Given the description of an element on the screen output the (x, y) to click on. 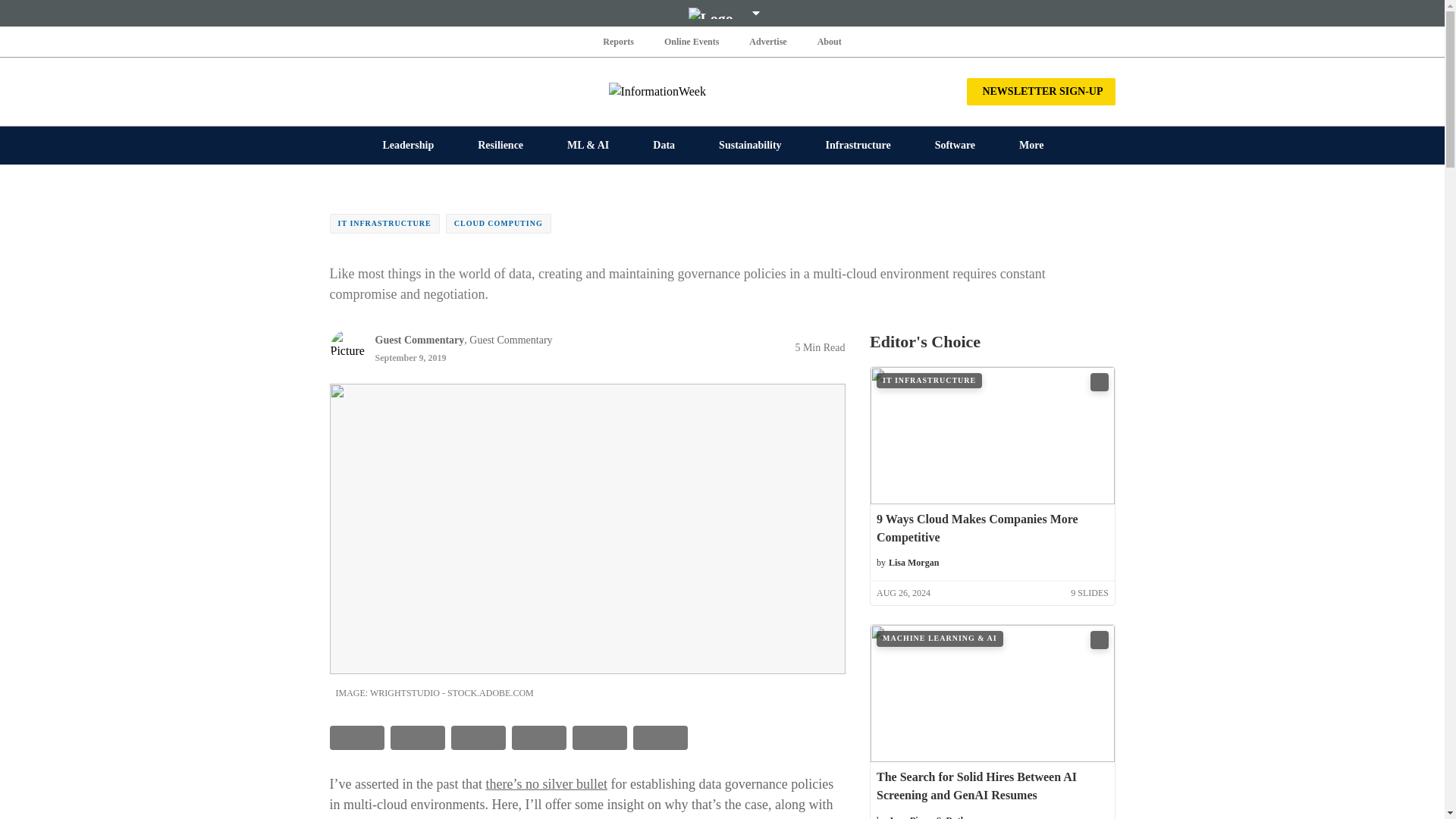
NEWSLETTER SIGN-UP (1040, 90)
Online Events (691, 41)
Reports (618, 41)
InformationWeek (721, 91)
About (828, 41)
Advertise (767, 41)
